Given the description of an element on the screen output the (x, y) to click on. 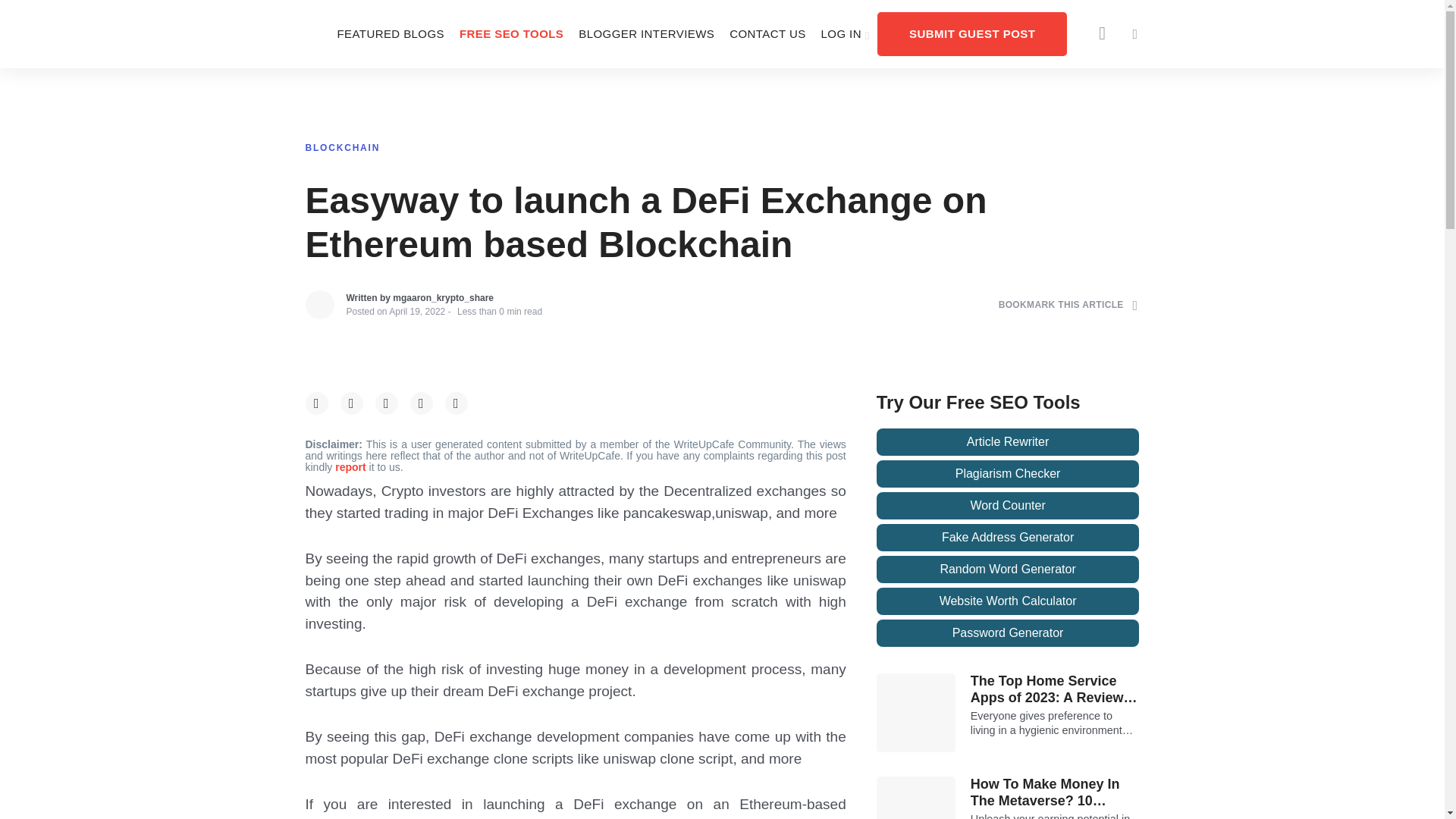
BLOGGER INTERVIEWS (646, 33)
The Top Home Service Apps of 2023: A Review and Comparison (1055, 689)
CONTACT US (767, 33)
BOOKMARK THIS ARTICLE (1068, 304)
LOG IN (845, 33)
LOG IN (845, 33)
report (351, 467)
Plagiarism Checker (1008, 473)
